Given the description of an element on the screen output the (x, y) to click on. 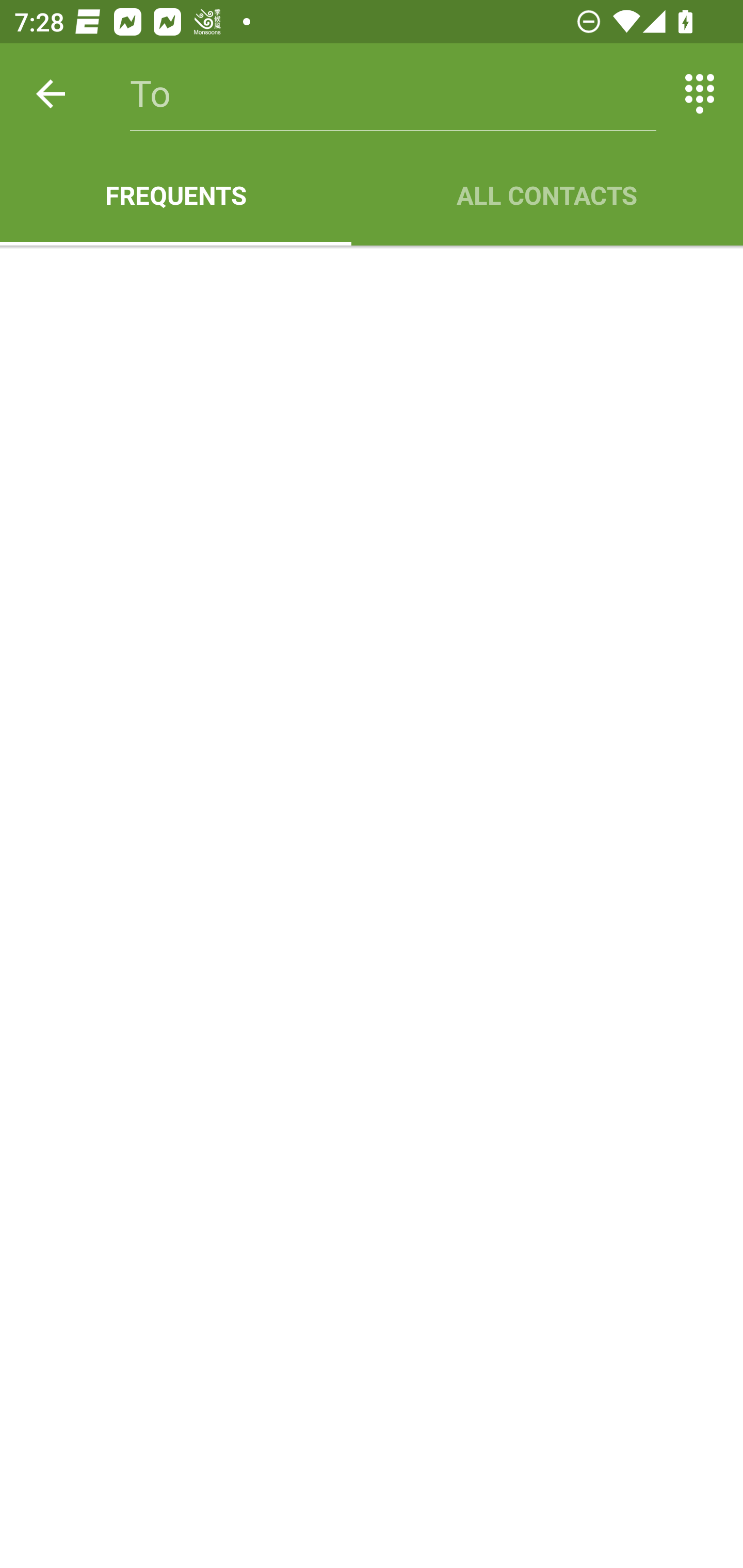
Back (50, 93)
Switch between entering text and numbers (699, 93)
To (393, 93)
FREQUENTS (175, 195)
ALL CONTACTS (547, 195)
